Given the description of an element on the screen output the (x, y) to click on. 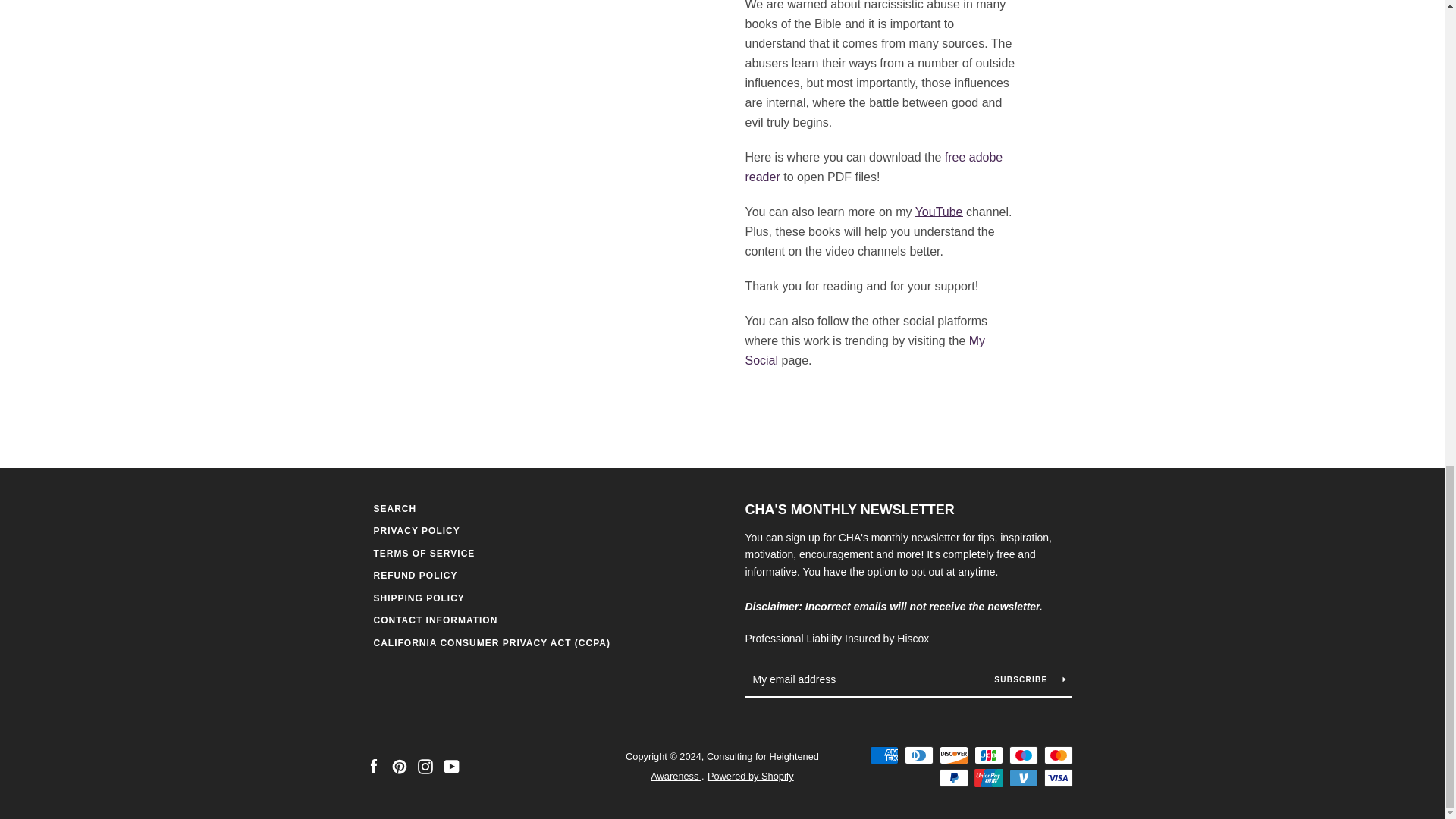
free adobe reader (873, 166)
My Social (864, 350)
My Social (864, 350)
YouTube (938, 211)
YouTube (938, 211)
free adobe reader (873, 166)
